Given the description of an element on the screen output the (x, y) to click on. 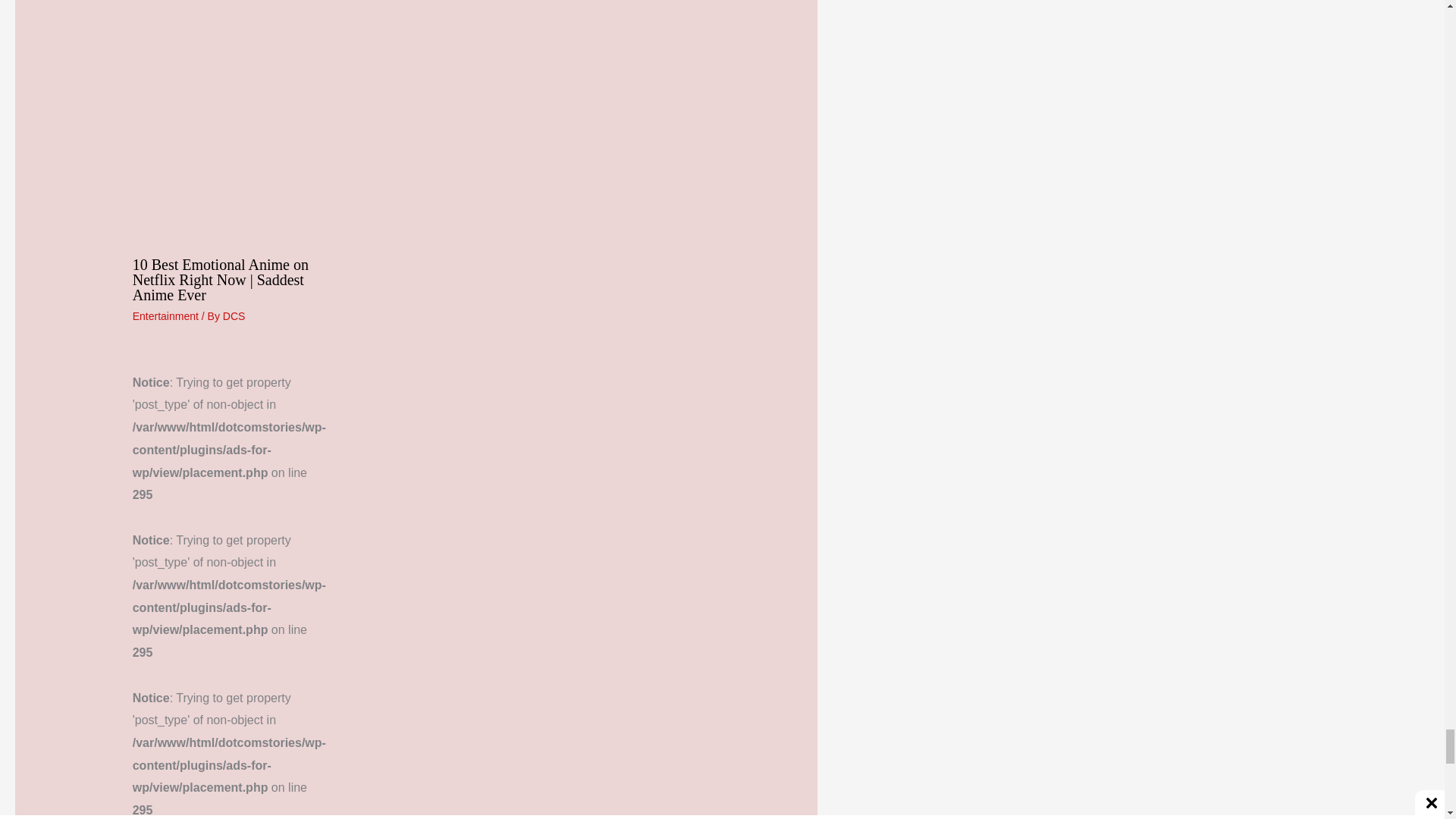
View all posts by DCS (234, 316)
